Given the description of an element on the screen output the (x, y) to click on. 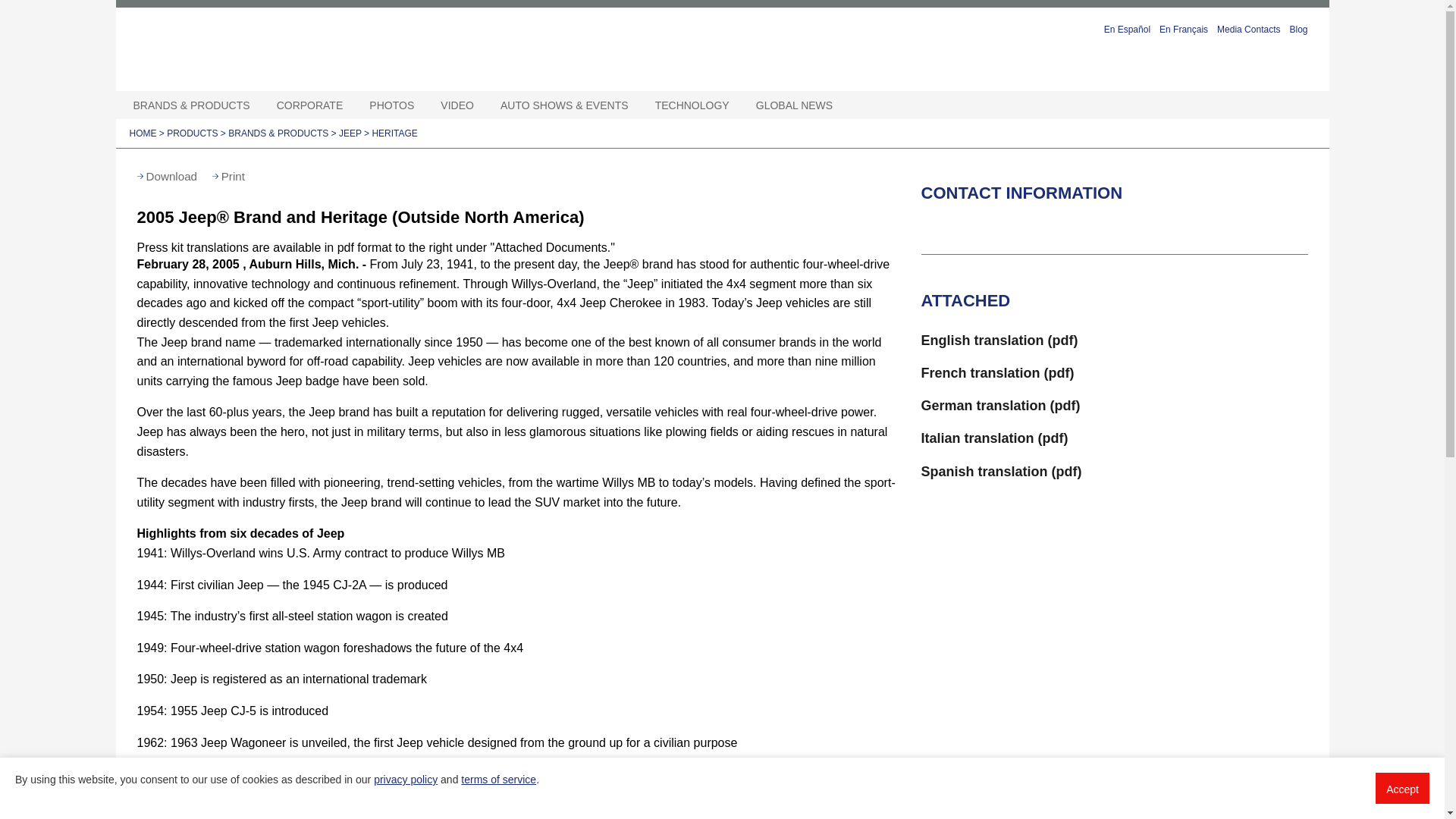
Media Contacts (1248, 27)
Printer Friendly Version (228, 175)
Stellantis (307, 48)
go to Stellantis (307, 48)
Blog (1297, 27)
